Given the description of an element on the screen output the (x, y) to click on. 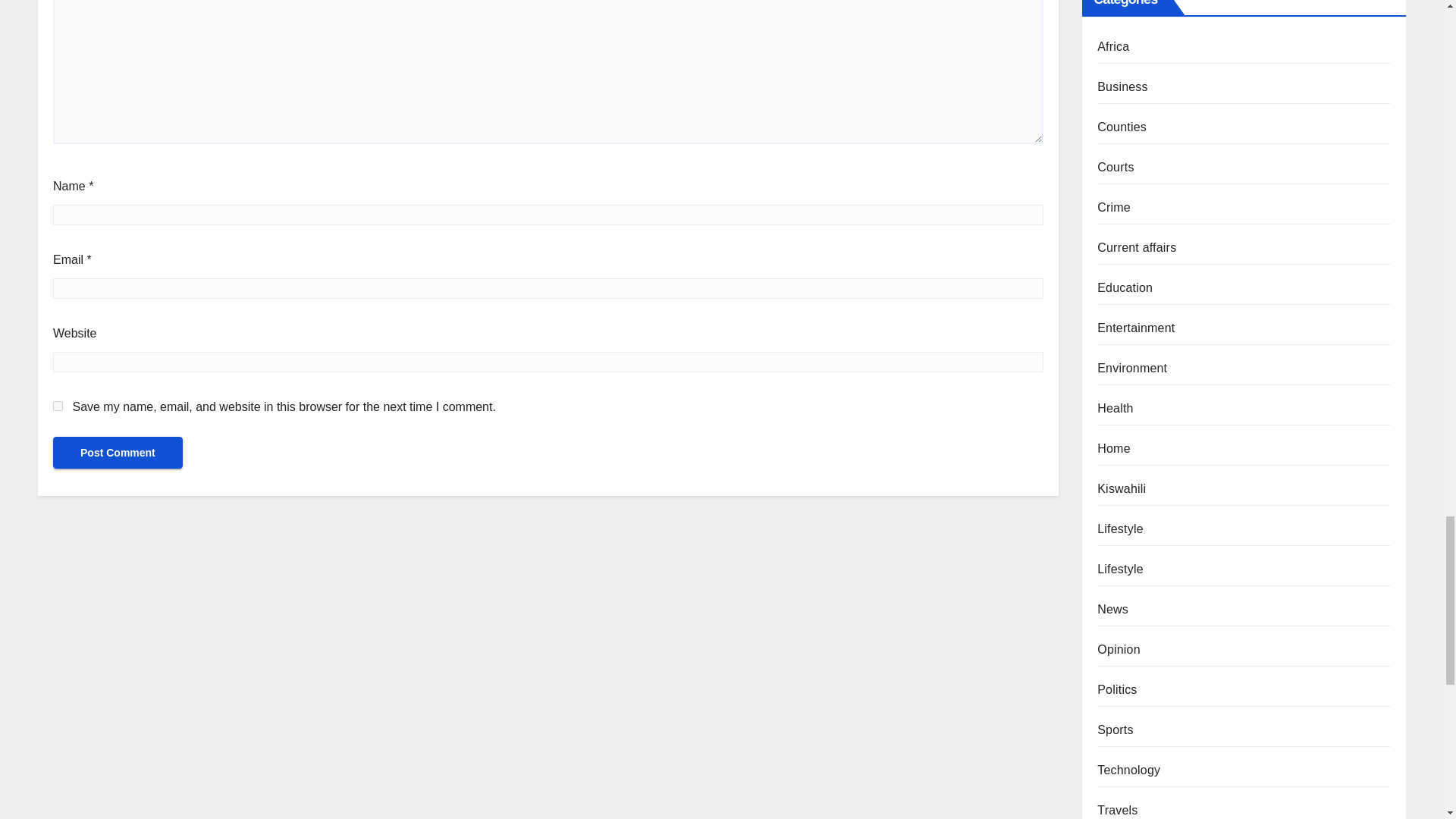
yes (57, 406)
Post Comment (117, 452)
